Given the description of an element on the screen output the (x, y) to click on. 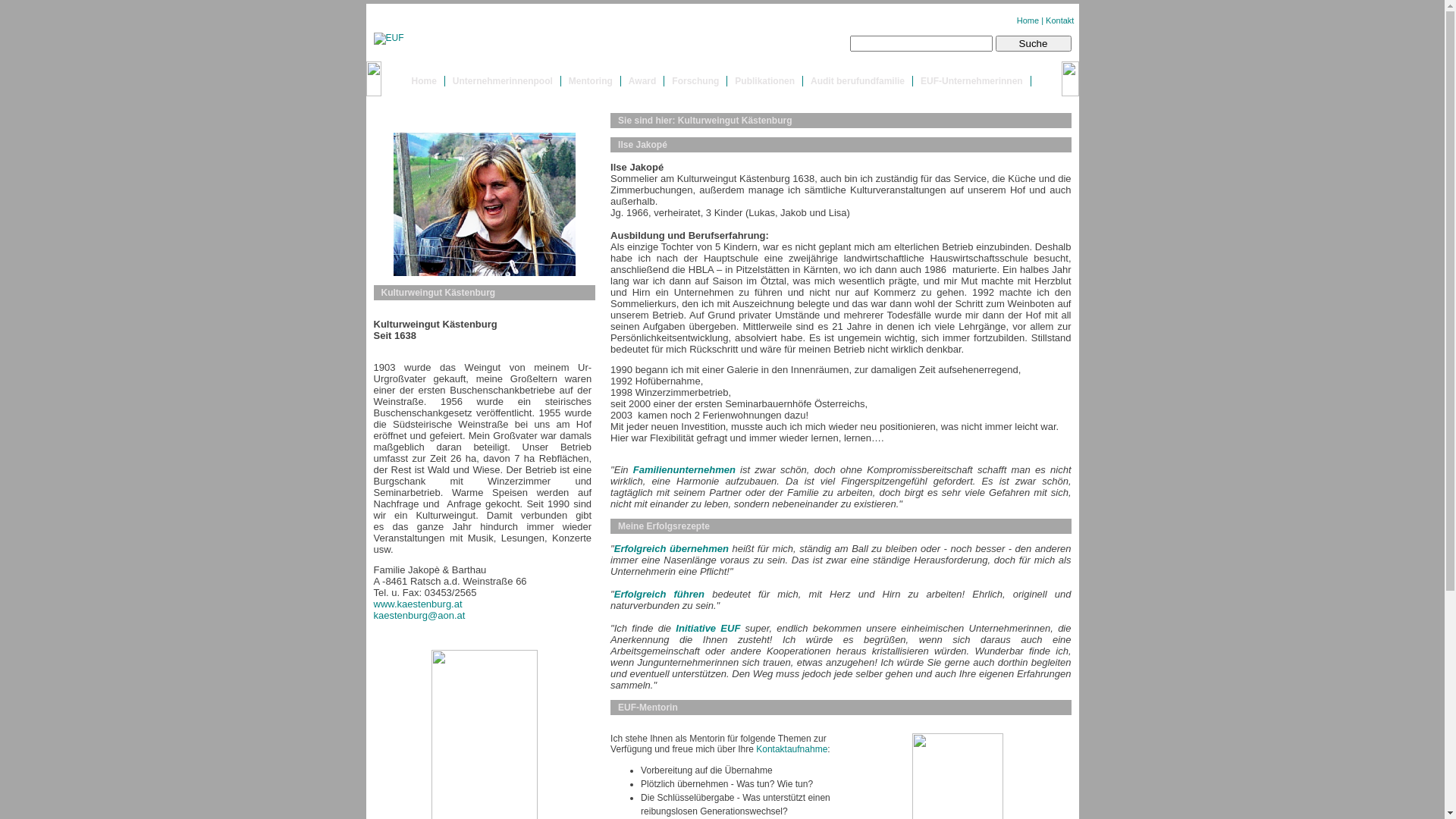
Audit berufundfamilie Element type: text (857, 80)
Forschung Element type: text (694, 80)
EUF Element type: hover (388, 37)
Unternehmerinnenpool Element type: text (502, 80)
kaestenburg@aon.at Element type: text (418, 615)
Kontakt Element type: text (1059, 20)
Award Element type: text (641, 80)
Publikationen Element type: text (764, 80)
Suche Element type: text (1032, 43)
EUF-Unternehmerinnen Element type: text (971, 80)
Mentoring Element type: text (590, 80)
Home Element type: text (1027, 20)
Home Element type: text (423, 80)
www.kaestenburg.at Element type: text (417, 603)
Kontaktaufnahme Element type: text (791, 748)
